Given the description of an element on the screen output the (x, y) to click on. 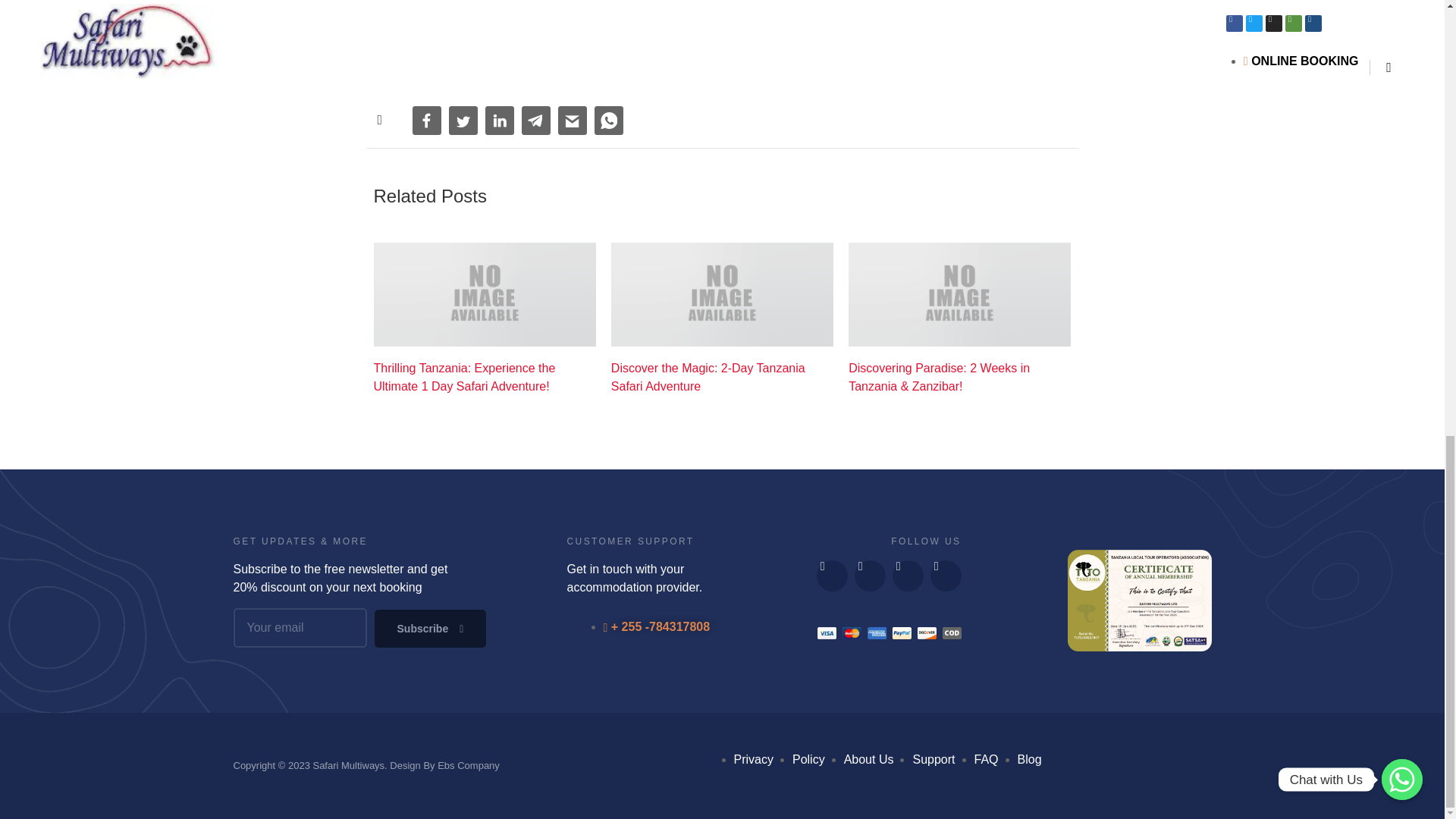
Subscribe (430, 628)
Discover the Magic: 2-Day Tanzania Safari Adventure (721, 377)
